Given the description of an element on the screen output the (x, y) to click on. 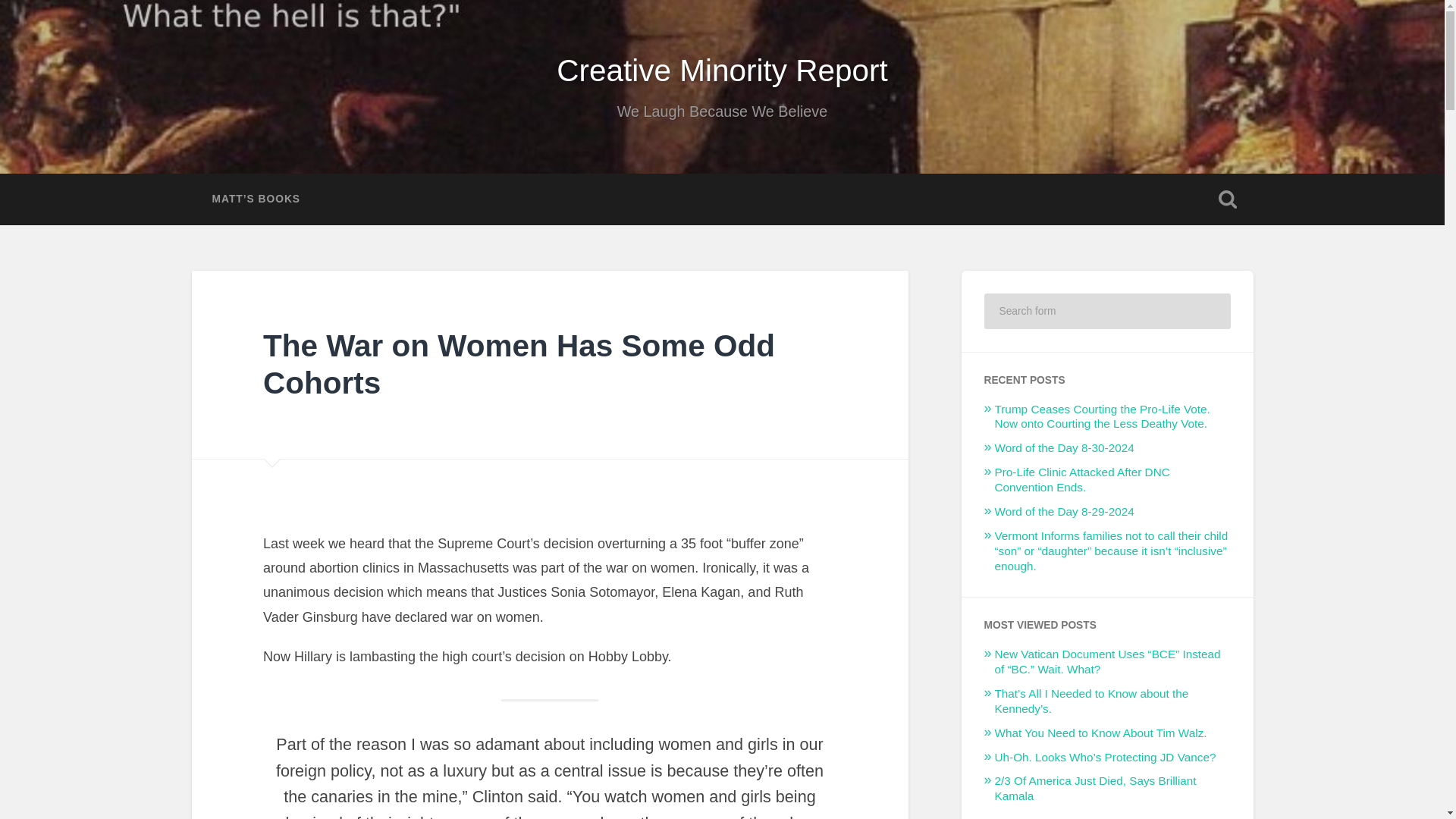
Search (1209, 310)
The War on Women Has Some Odd Cohorts (518, 364)
Pro-Life Clinic Attacked After DNC Convention Ends. (1082, 479)
Creative Minority Report (722, 70)
What You Need to Know About Tim Walz. (1100, 732)
Search (1209, 310)
Search (1209, 310)
Word of the Day 8-30-2024 (1064, 447)
Word of the Day 8-29-2024 (1064, 511)
